Given the description of an element on the screen output the (x, y) to click on. 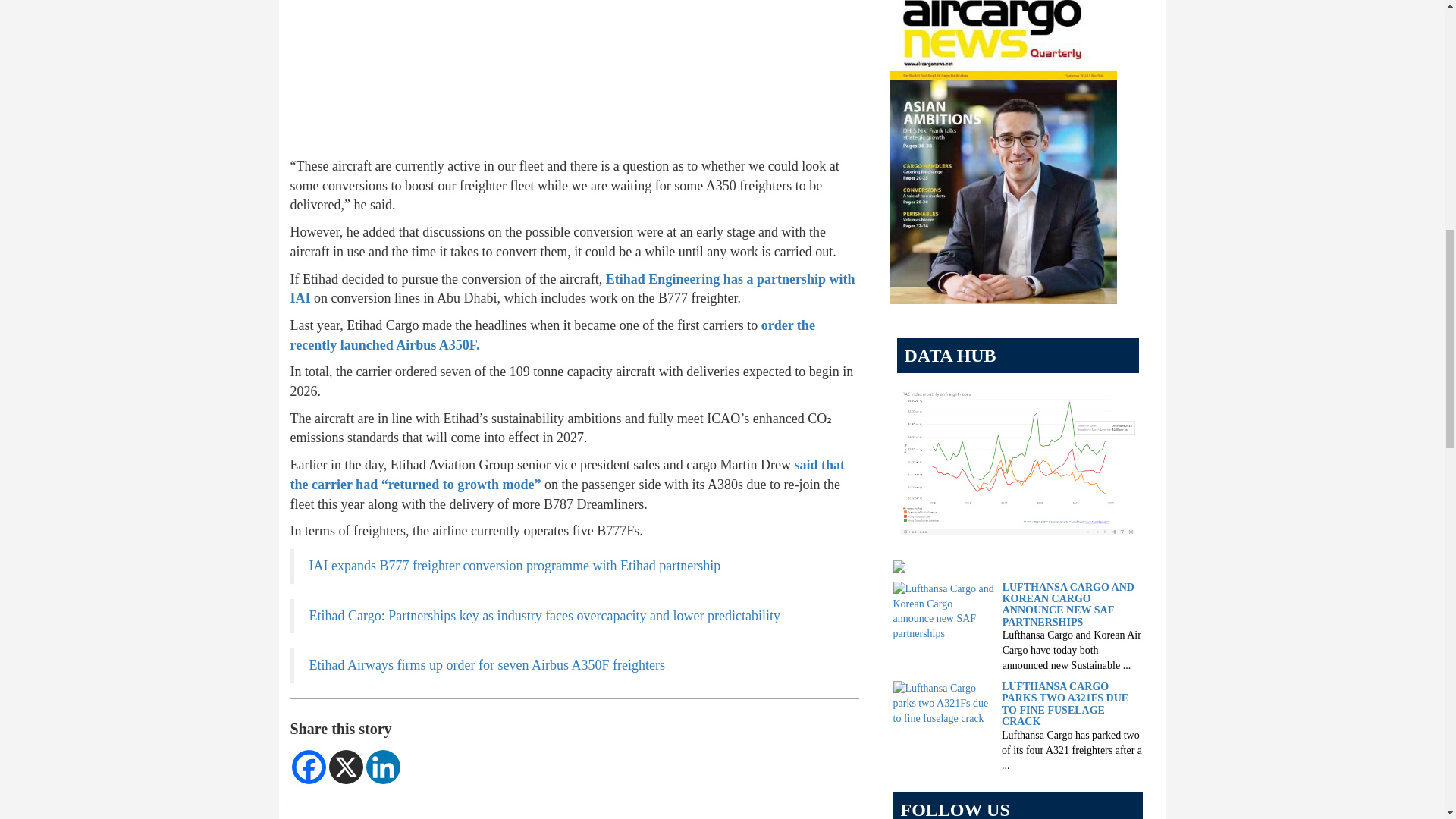
X (345, 766)
Linkedin (381, 766)
Facebook (307, 766)
